Given the description of an element on the screen output the (x, y) to click on. 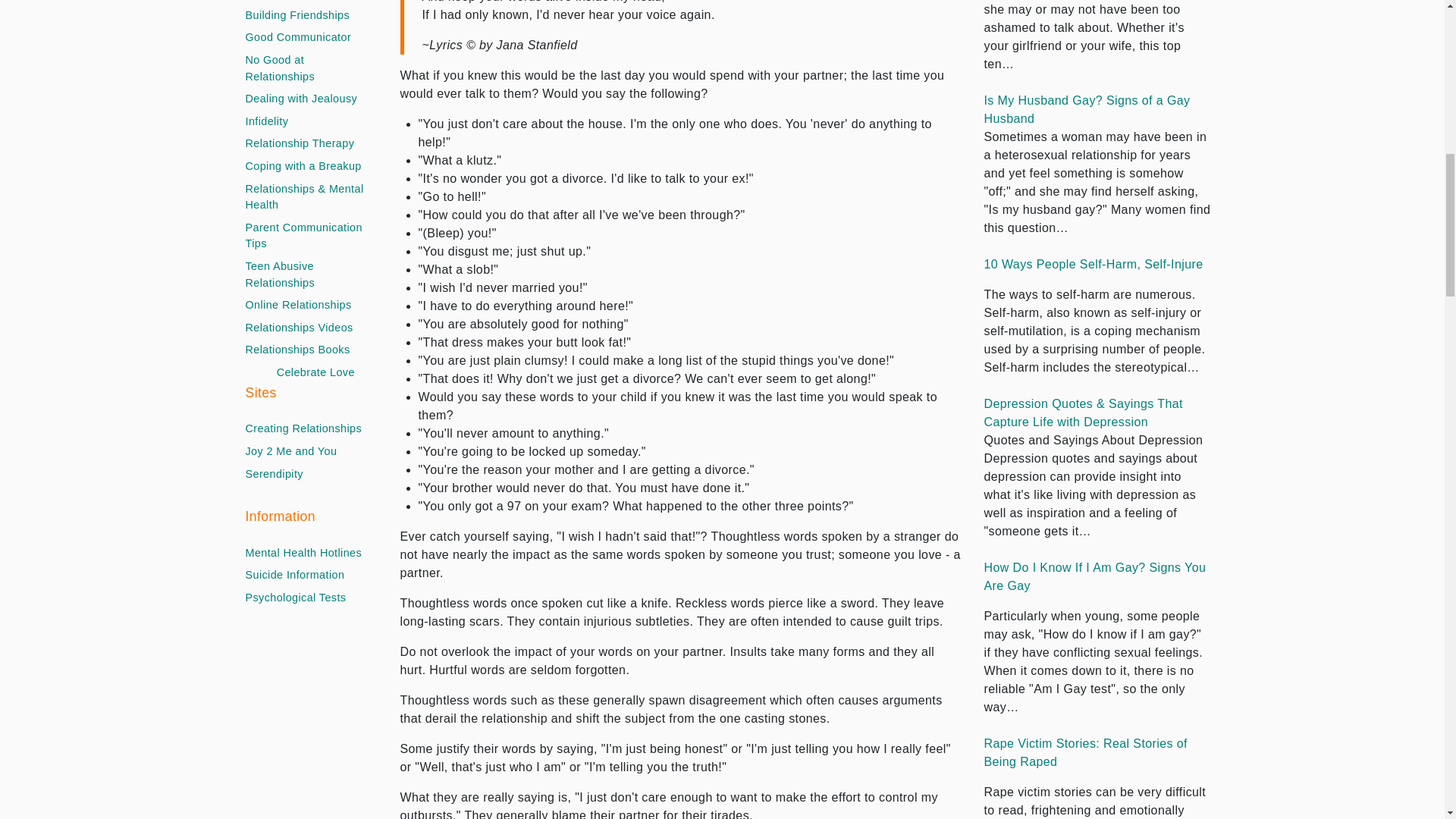
How to Be a Good Communicator in a Relationship (299, 37)
What Does It Take to Make New Friends? (298, 15)
Do You Need Relationship or Marriage Therapy? (300, 143)
Mental Health Hotline Numbers and Referral Resources (304, 553)
Dealing with the Feelings of Jealousy (302, 98)
Can an Online Relationship Work? (299, 305)
For Teens: Abusive Relationships and What To Do About Them (305, 274)
Parenting: Communication Tips for Parents (305, 236)
Considering Why You May Be "No Good at Relationships" (305, 68)
Coping with a Relationship Breakup (303, 166)
Relationships and Mental Health (305, 196)
How to Develop Intimate Relationships? (302, 0)
Is Your Partner Cheating On You? (267, 121)
